Given the description of an element on the screen output the (x, y) to click on. 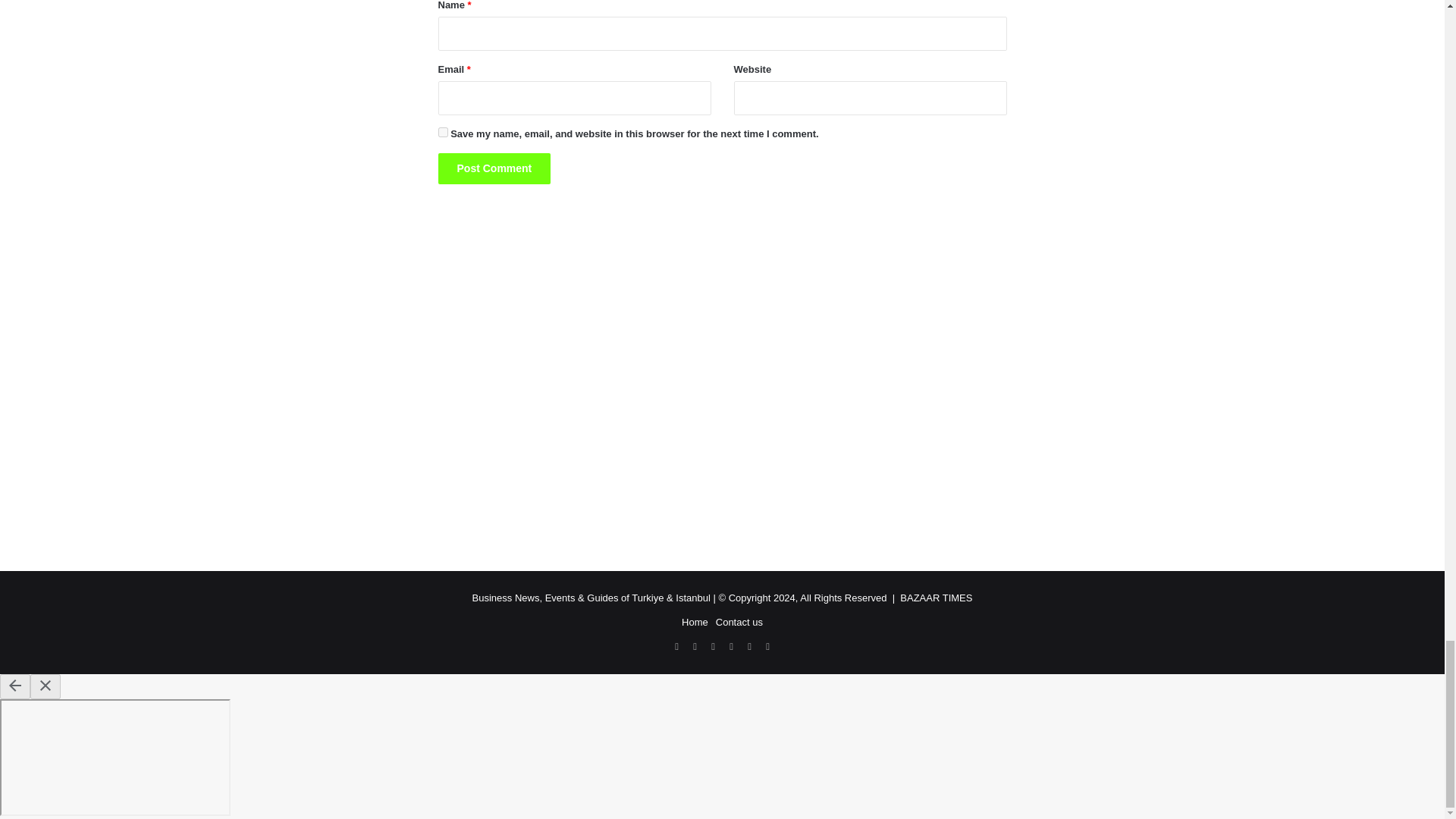
Post Comment (494, 168)
yes (443, 132)
